Given the description of an element on the screen output the (x, y) to click on. 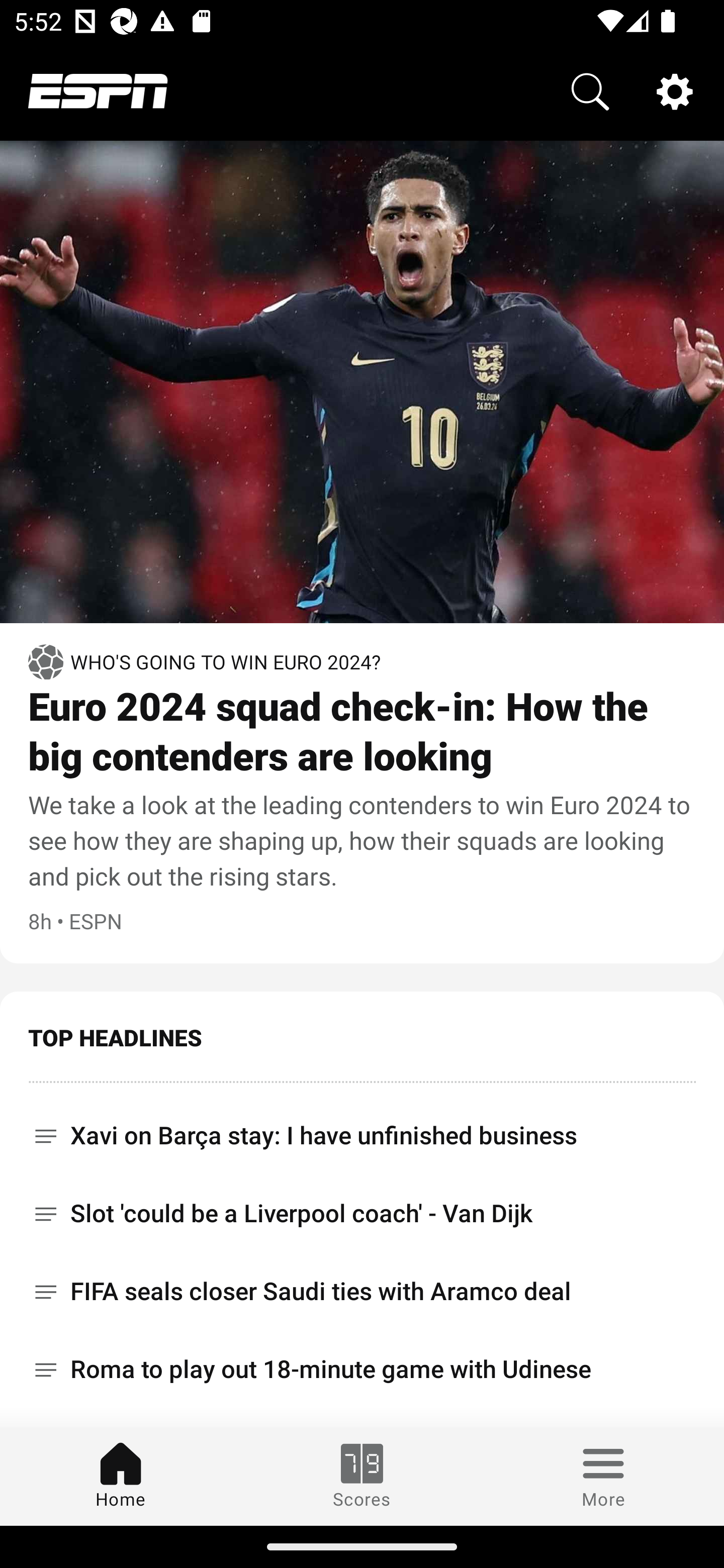
Search (590, 90)
Settings (674, 90)
 Xavi on Barça stay: I have unfinished business (362, 1128)
 Slot 'could be a Liverpool coach' - Van Dijk (362, 1213)
 FIFA seals closer Saudi ties with Aramco deal (362, 1291)
 Roma to play out 18-minute game with Udinese (362, 1369)
Scores (361, 1475)
More (603, 1475)
